Given the description of an element on the screen output the (x, y) to click on. 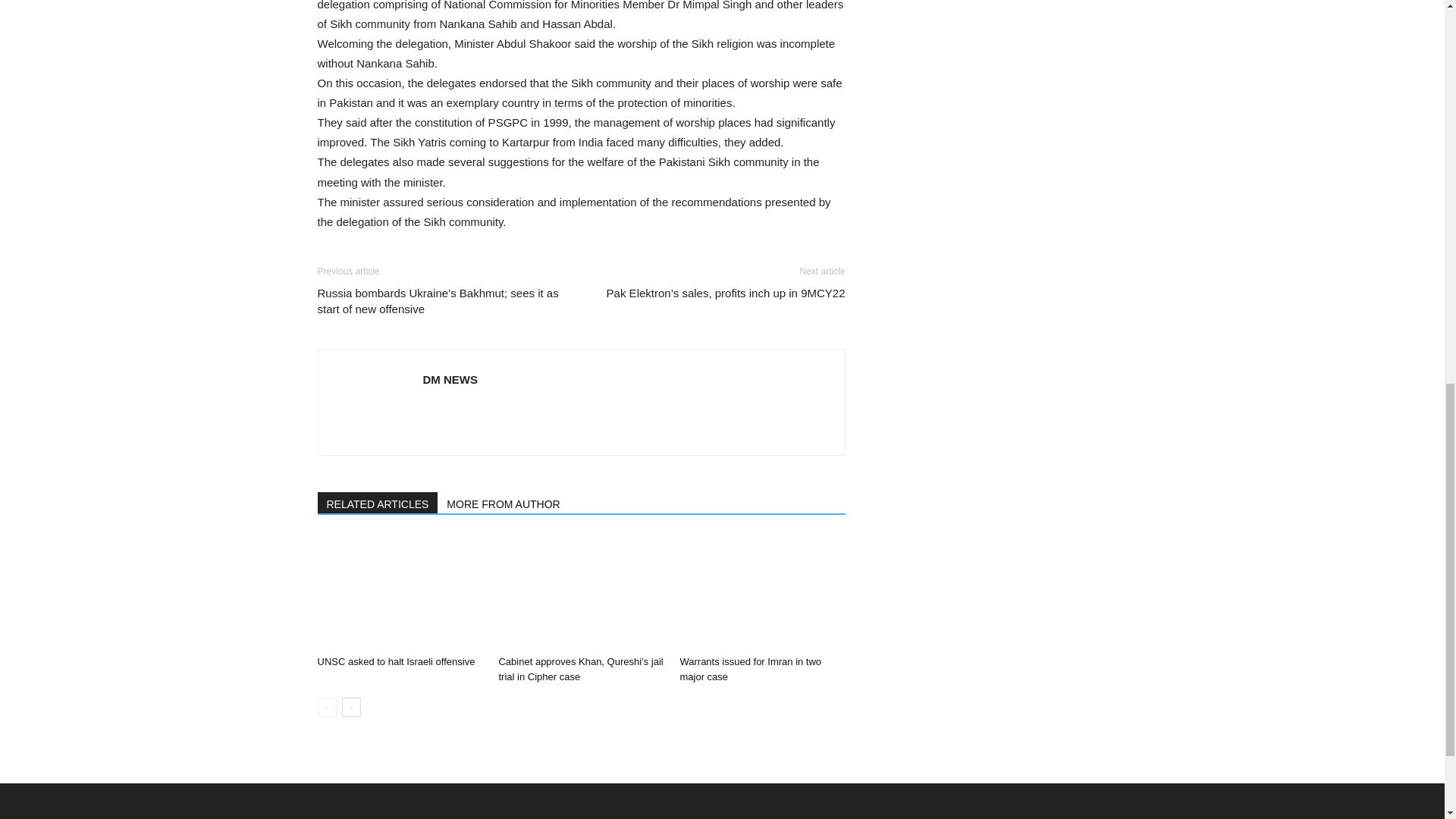
Warrants issued for Imran in two major case (761, 592)
UNSC asked to halt Israeli offensive (399, 592)
UNSC asked to halt Israeli offensive (395, 661)
Warrants issued for Imran in two major case (750, 669)
